Given the description of an element on the screen output the (x, y) to click on. 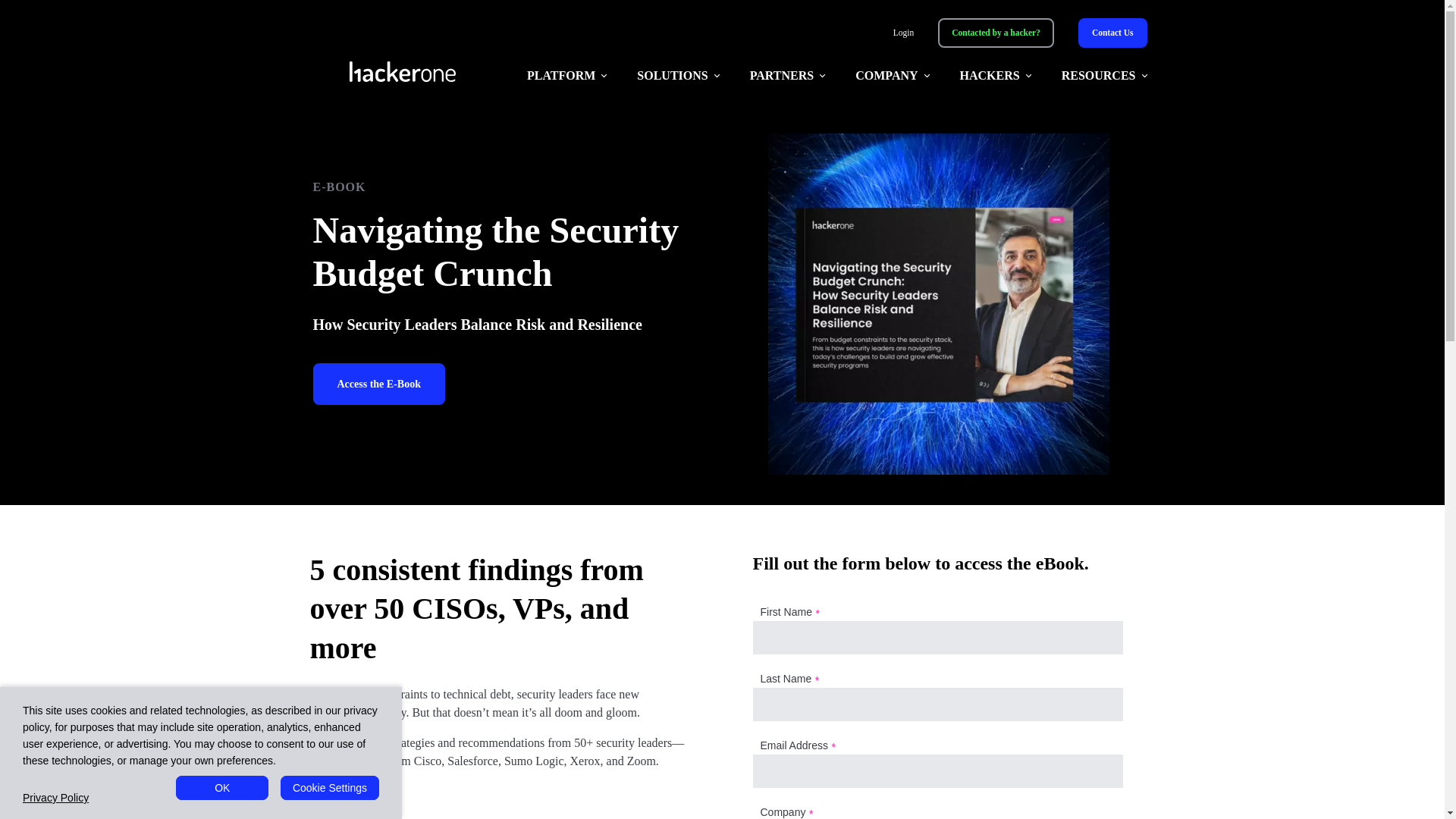
Contacted by a hacker? (995, 32)
Contact Us (1112, 32)
Navigating the Security Budget Crunch hero (937, 304)
Login (903, 32)
